Given the description of an element on the screen output the (x, y) to click on. 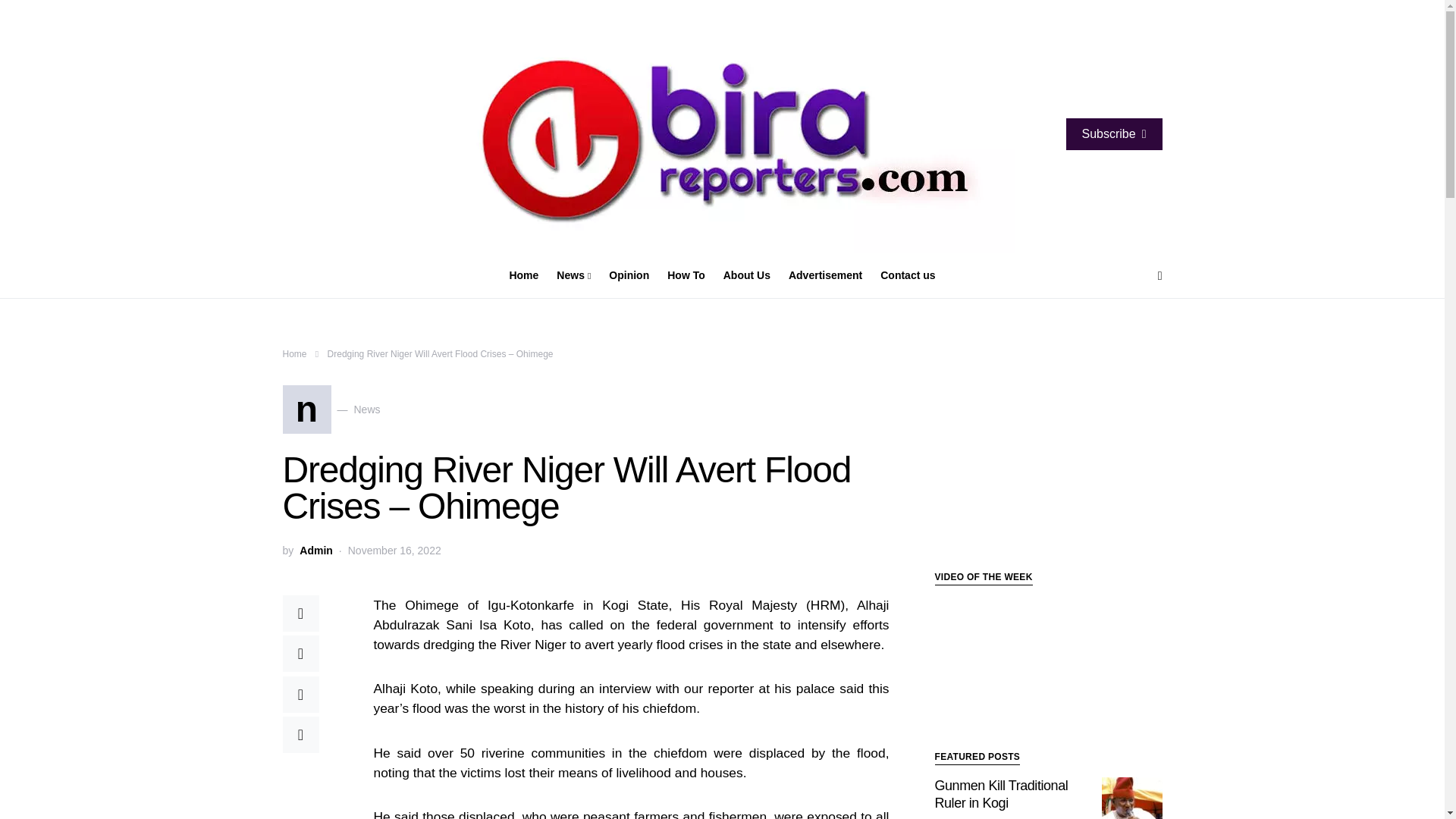
Subscribe (1113, 133)
About Us (746, 275)
News (573, 275)
Contact us (331, 409)
Opinion (902, 275)
Admin (628, 275)
Home (316, 550)
View all posts by Admin (293, 353)
How To (316, 550)
